Given the description of an element on the screen output the (x, y) to click on. 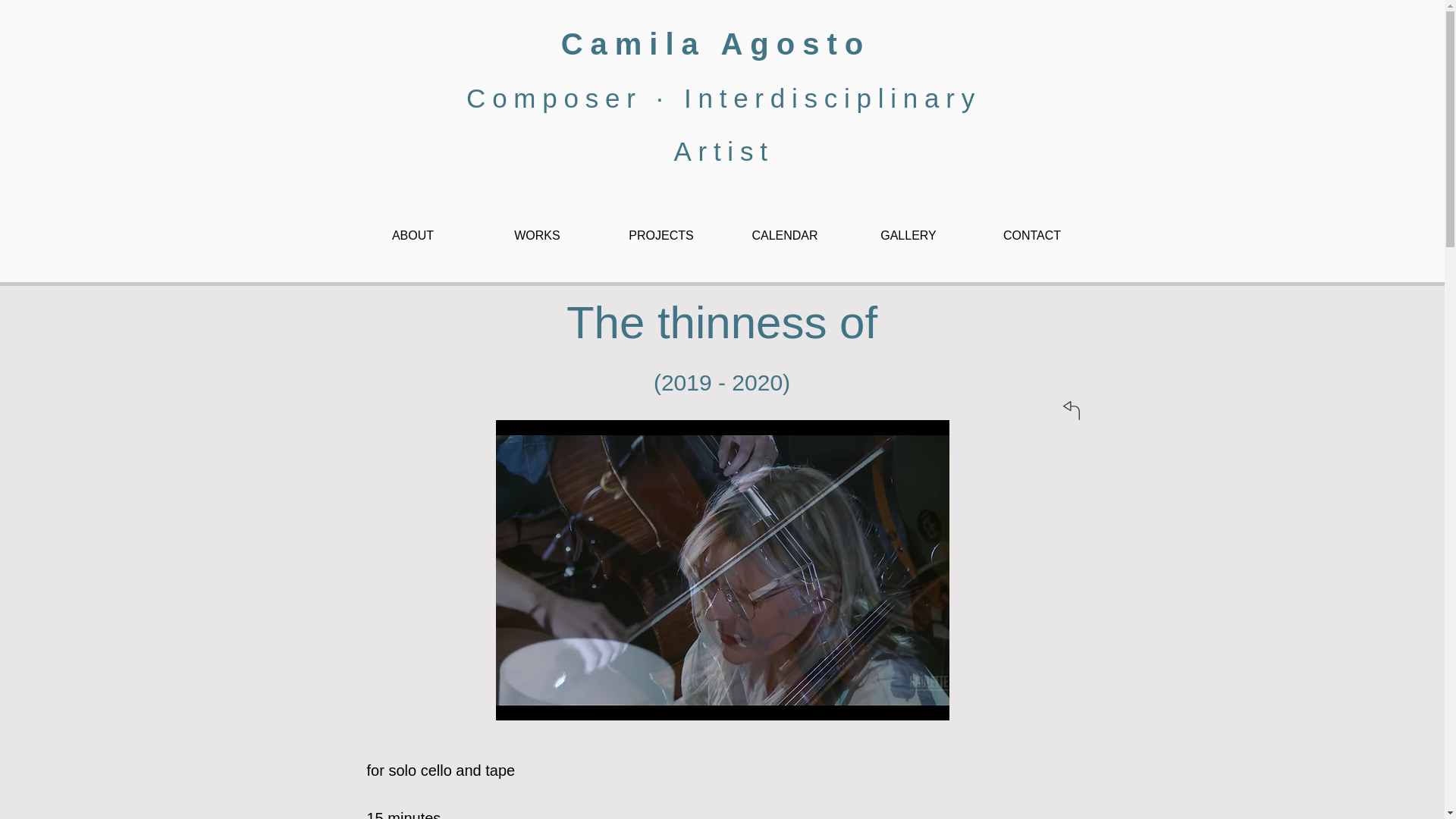
ABOUT (412, 235)
WORKS (536, 235)
CALENDAR (785, 235)
PROJECTS (660, 235)
GALLERY (907, 235)
CONTACT (1032, 235)
Camila Agosto  (723, 43)
